Given the description of an element on the screen output the (x, y) to click on. 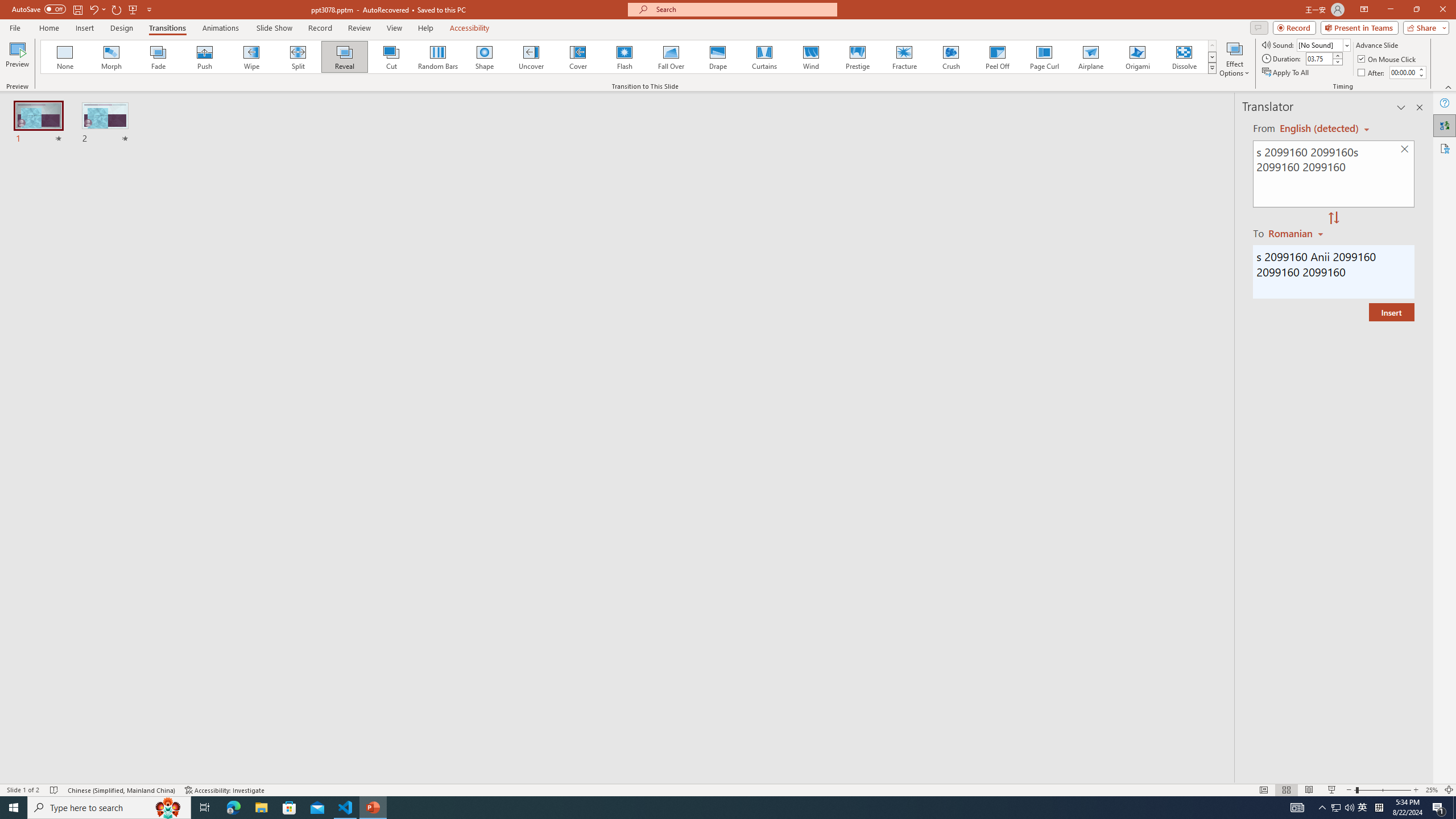
Morph (111, 56)
Romanian (1296, 232)
On Mouse Click (1387, 58)
Fracture (903, 56)
Sound (1324, 44)
Page Curl (1043, 56)
